Given the description of an element on the screen output the (x, y) to click on. 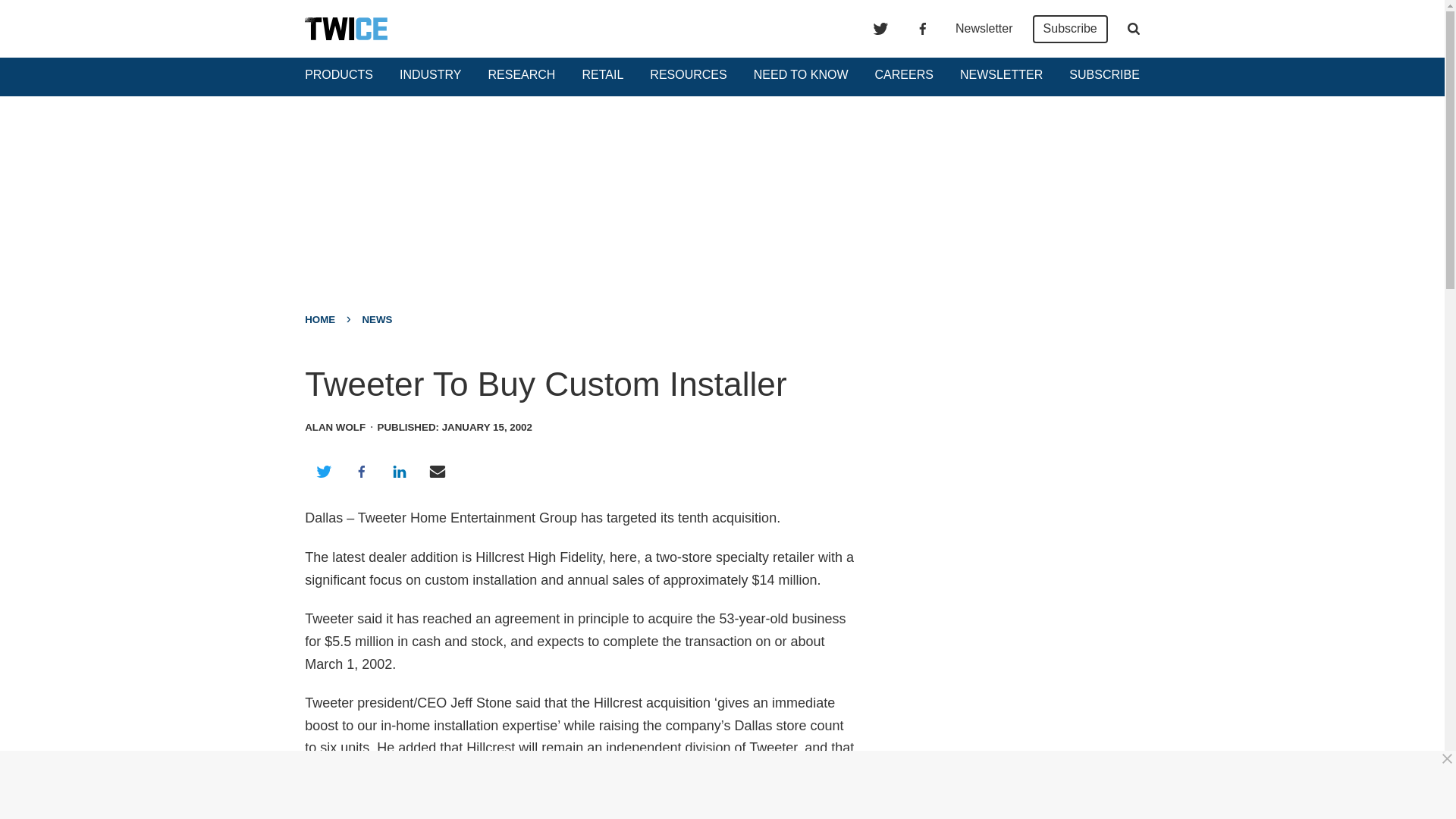
Share on LinkedIn (399, 471)
Share on Twitter (323, 471)
Advertisement (727, 785)
Share via Email (438, 471)
Advertisement (1005, 461)
Posts by Alan Wolf (334, 427)
Share on Facebook (361, 471)
